Given the description of an element on the screen output the (x, y) to click on. 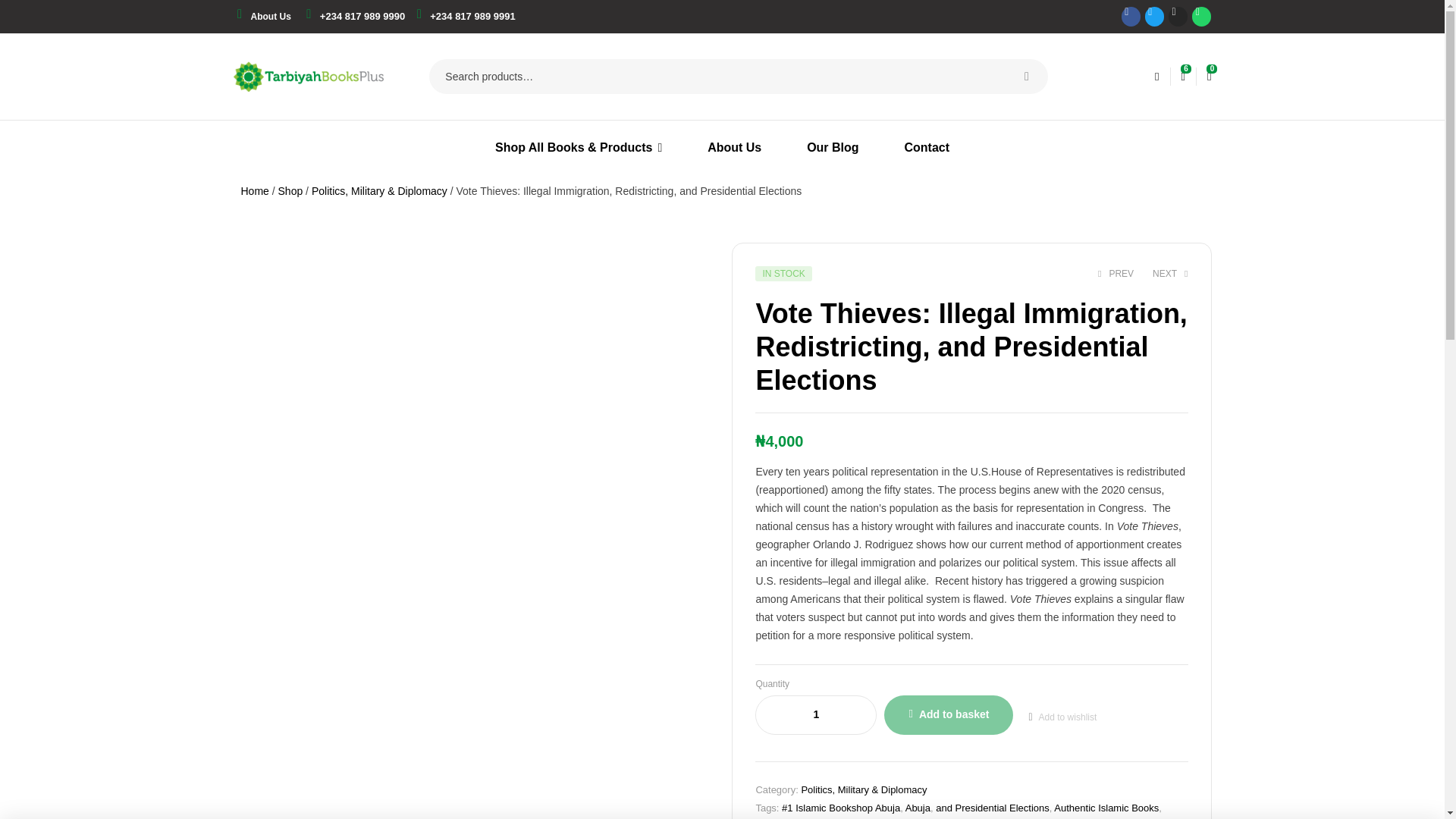
Search (1026, 76)
1 (815, 715)
Qty (815, 715)
About Us (269, 16)
